Given the description of an element on the screen output the (x, y) to click on. 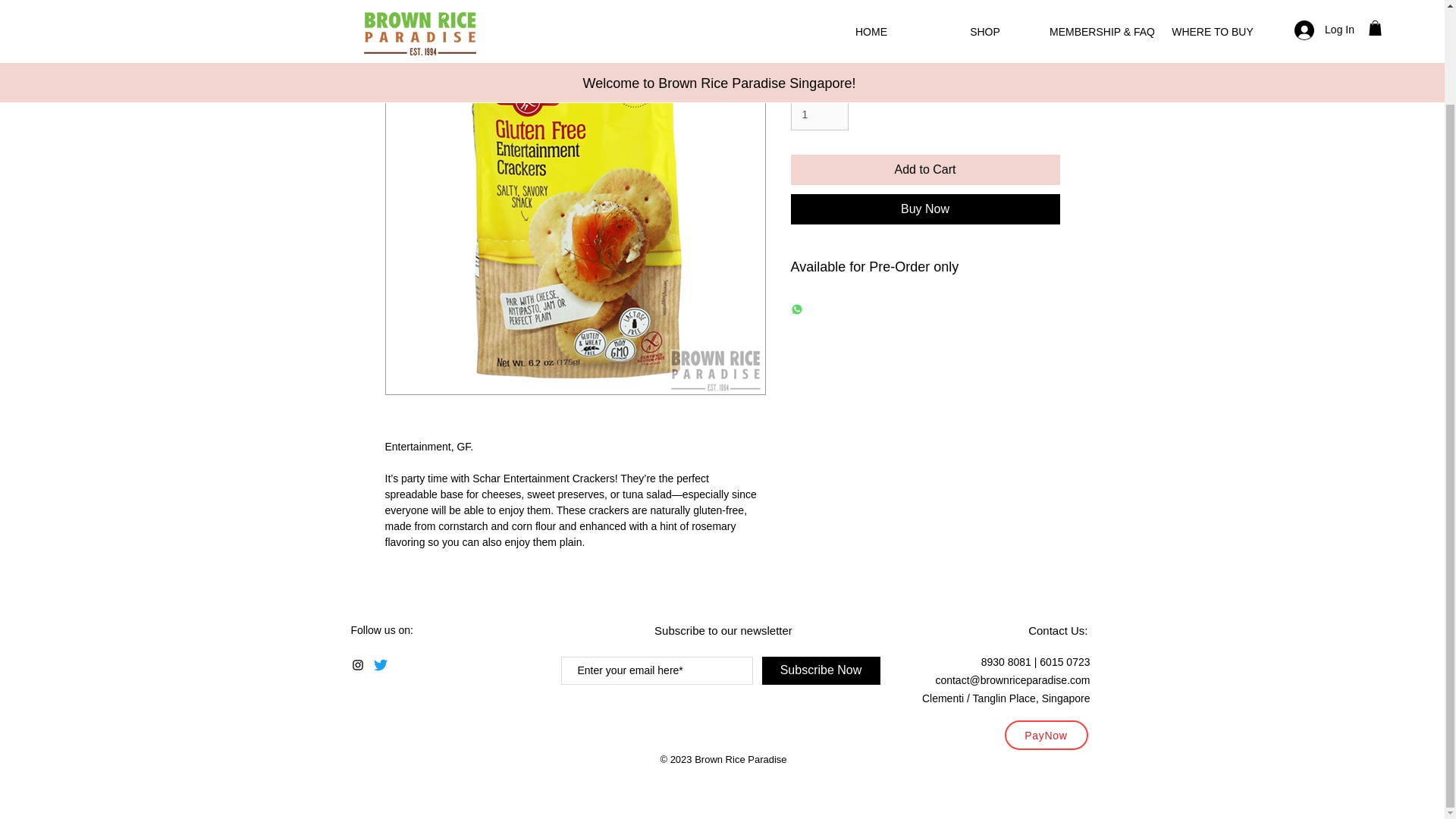
Subscribe Now (820, 670)
Add to Cart (924, 169)
PayNow (1045, 735)
1 (818, 114)
Buy Now (924, 209)
